Given the description of an element on the screen output the (x, y) to click on. 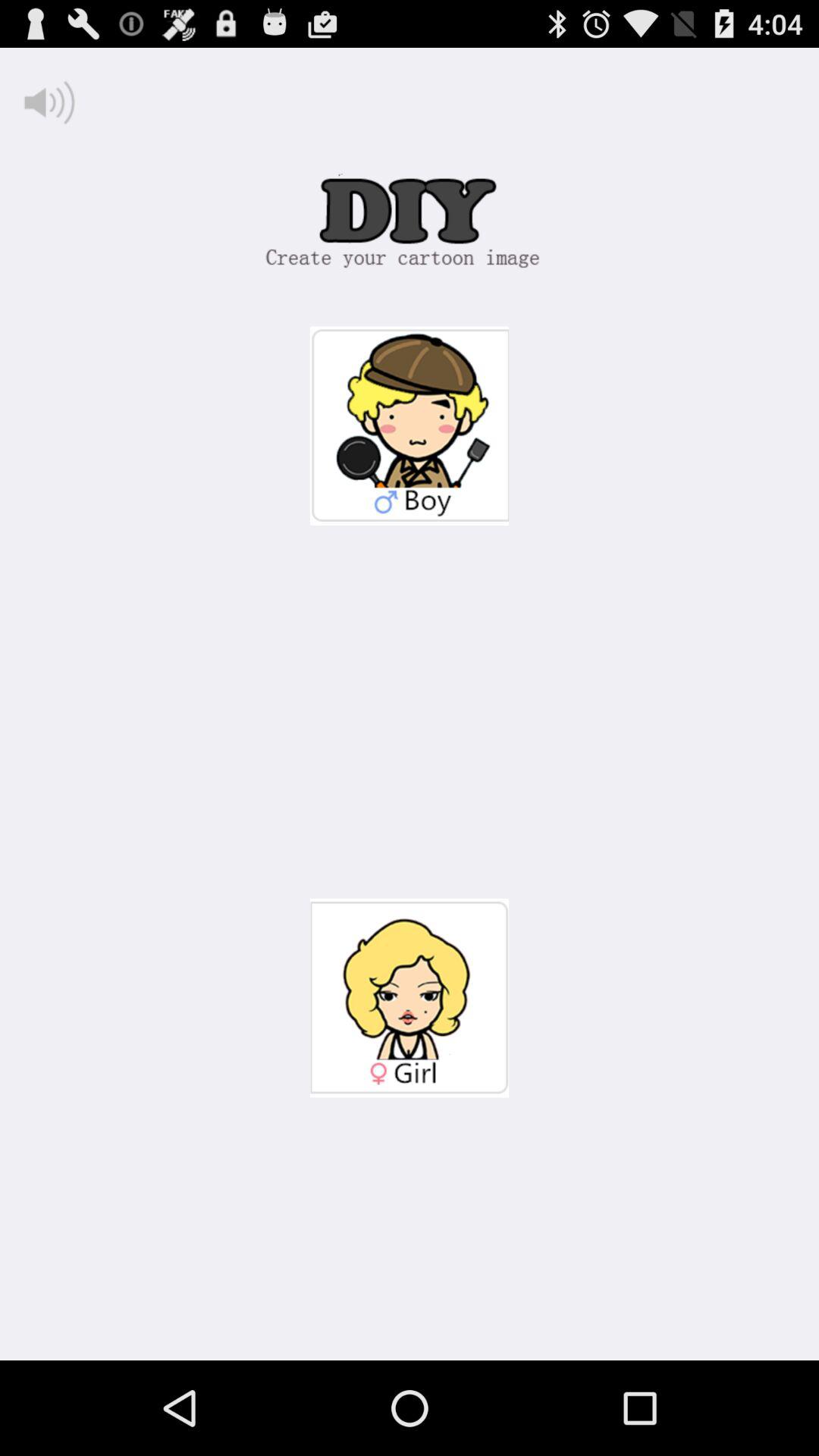
select girl image (409, 997)
